Given the description of an element on the screen output the (x, y) to click on. 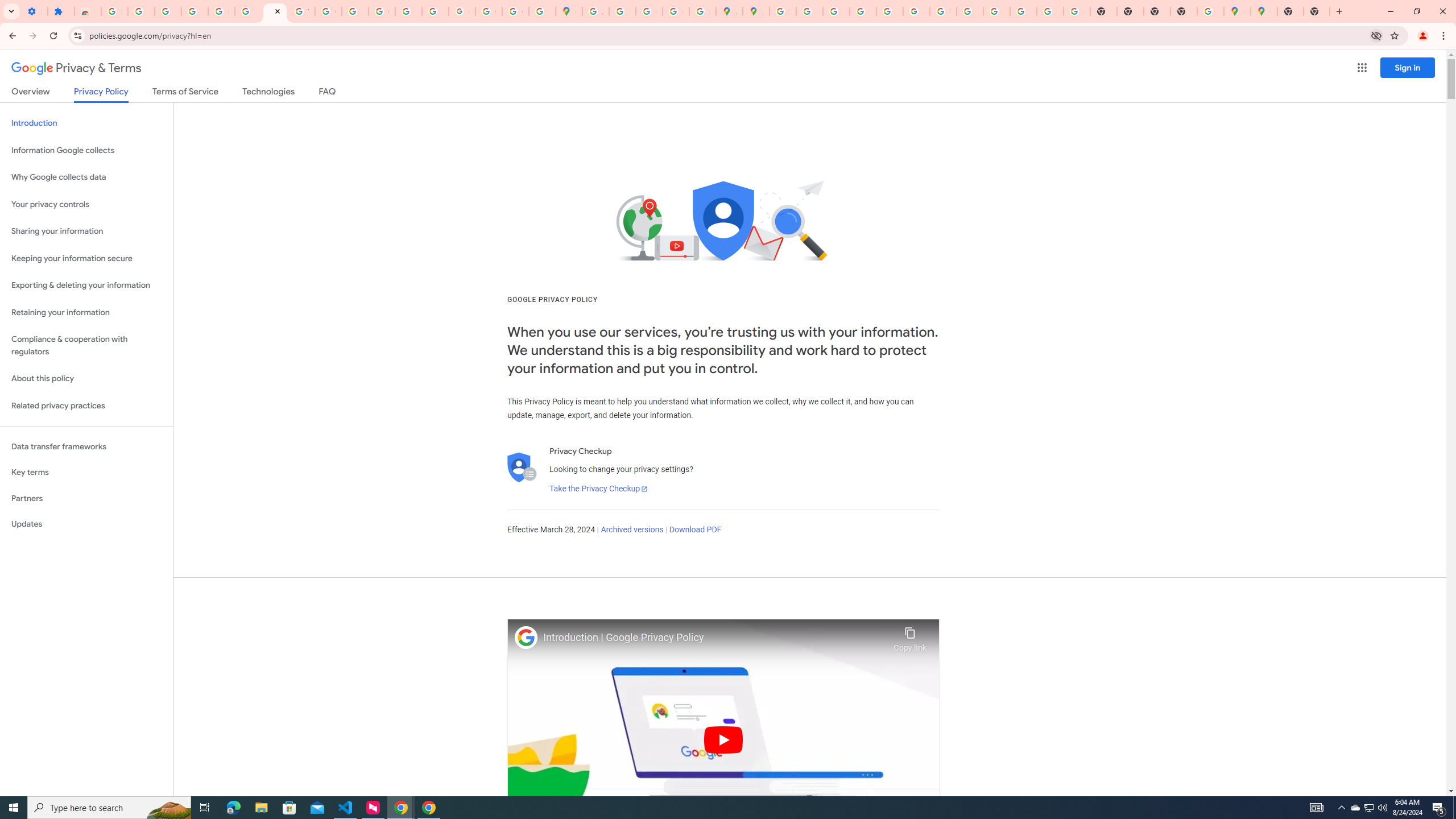
Create your Google Account (649, 11)
